Given the description of an element on the screen output the (x, y) to click on. 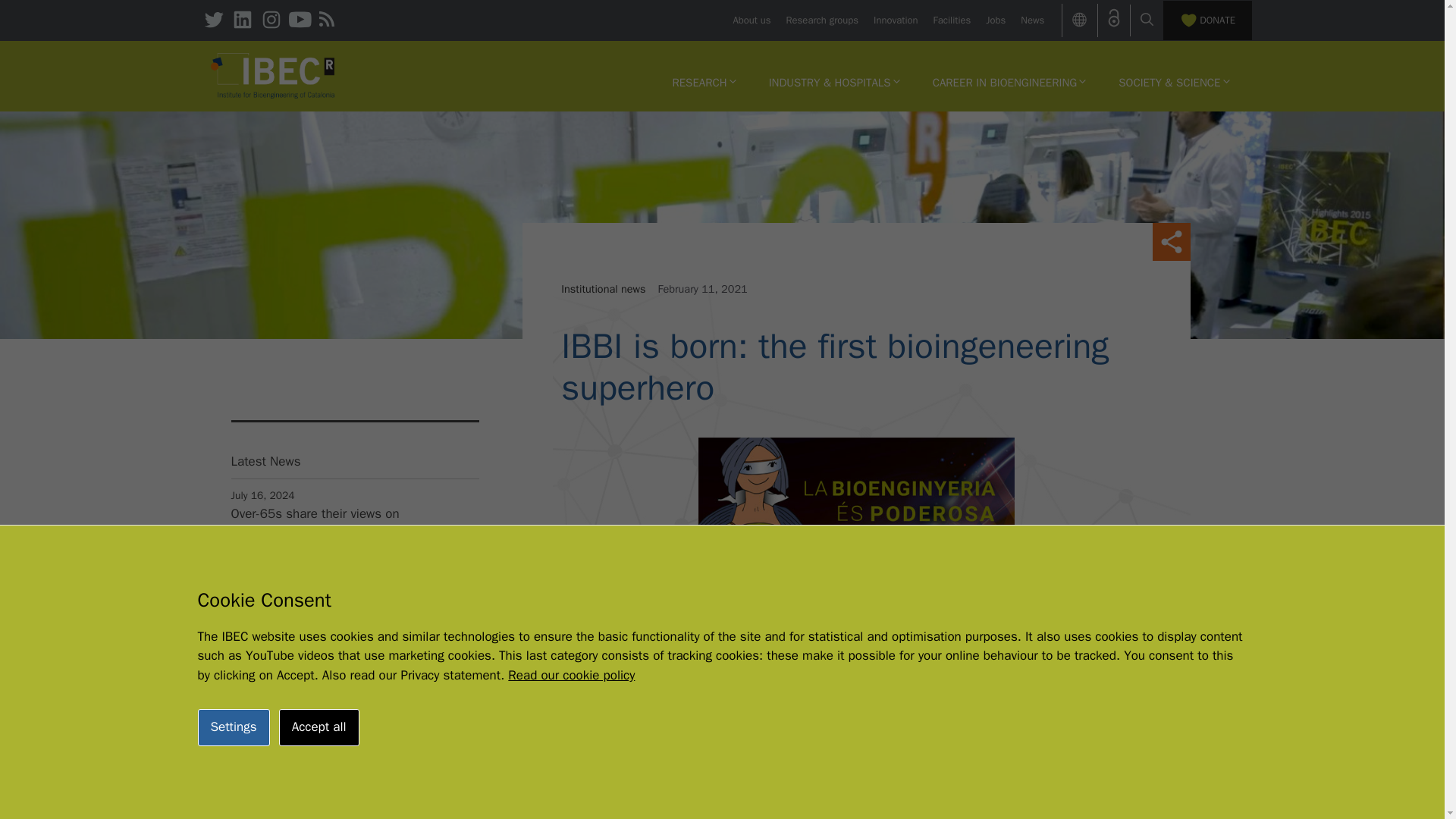
Innovation (895, 19)
Institute for Bioengineering of Catalonia (272, 75)
Institute for Bioengineering of Catalonia (272, 74)
About us (751, 19)
Research groups (822, 19)
News (1031, 19)
Facilities (952, 19)
RESEARCH (704, 81)
Jobs (995, 19)
DONATE (1207, 20)
